Given the description of an element on the screen output the (x, y) to click on. 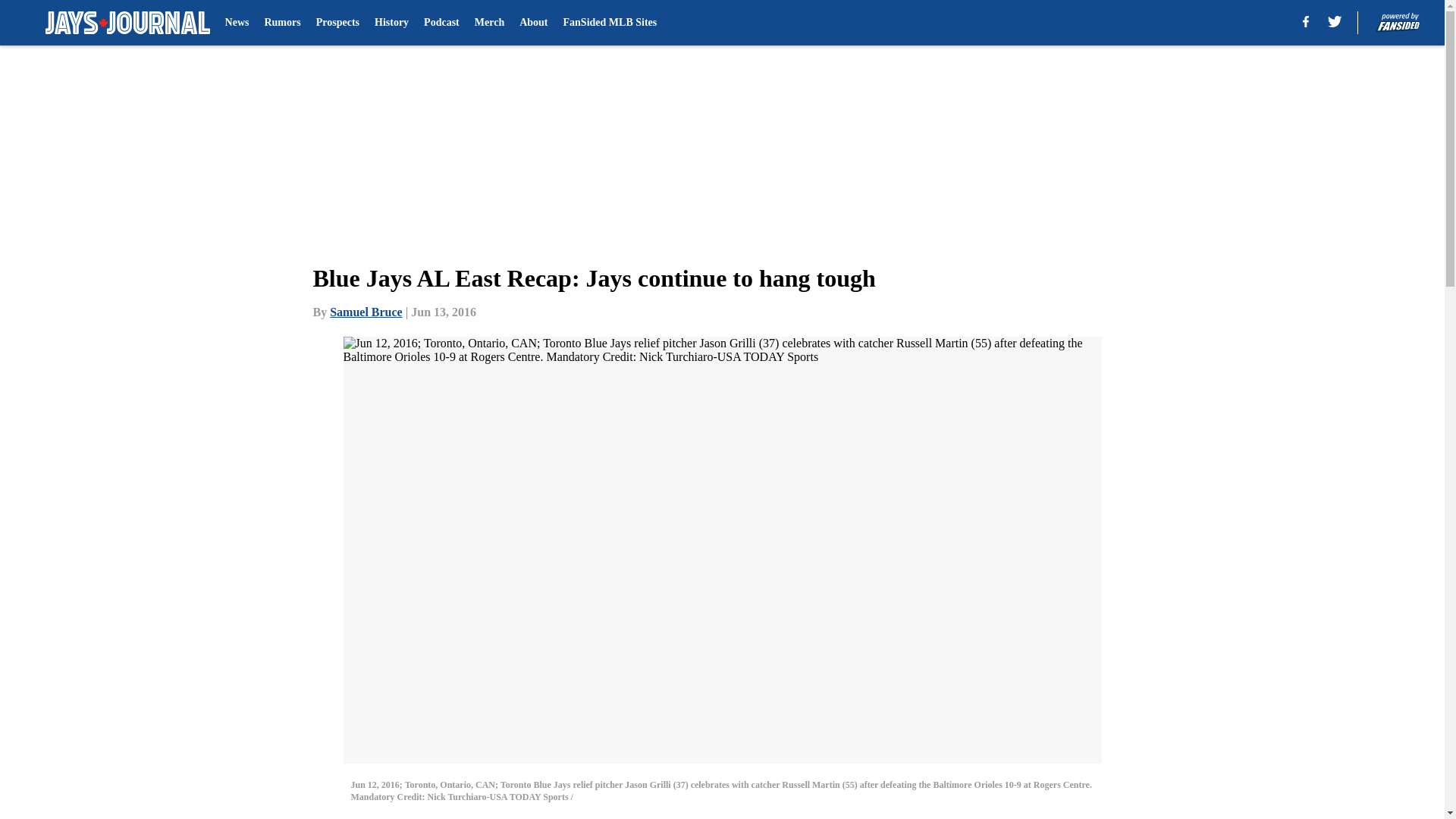
History (391, 22)
Prospects (337, 22)
Rumors (281, 22)
News (236, 22)
Merch (488, 22)
About (533, 22)
FanSided MLB Sites (610, 22)
Podcast (441, 22)
Samuel Bruce (366, 311)
